Given the description of an element on the screen output the (x, y) to click on. 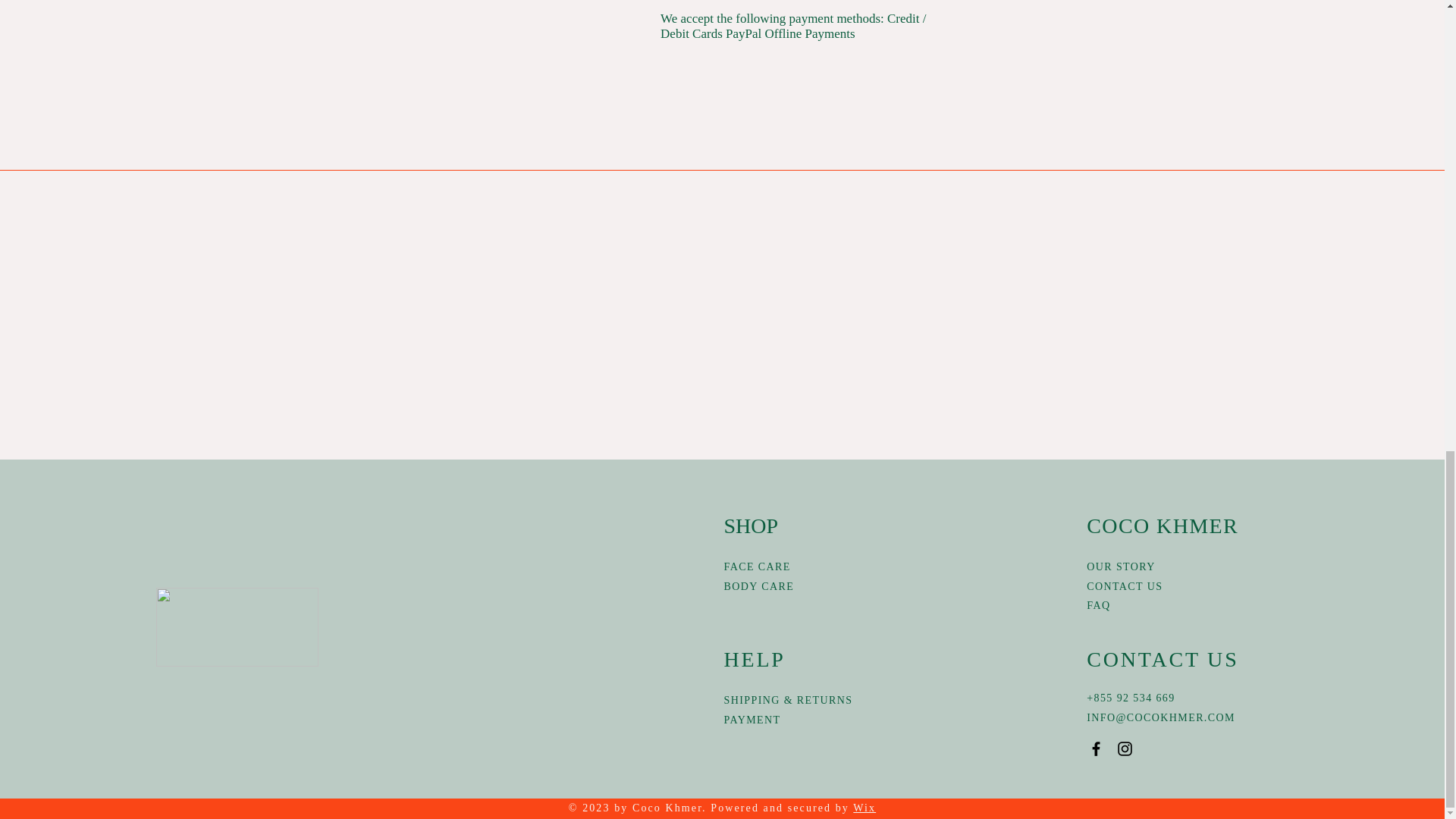
Wix (864, 808)
FACE CARE (756, 566)
FAQ (1097, 604)
OUR STORY (1121, 566)
CONTACT US (1123, 586)
